Given the description of an element on the screen output the (x, y) to click on. 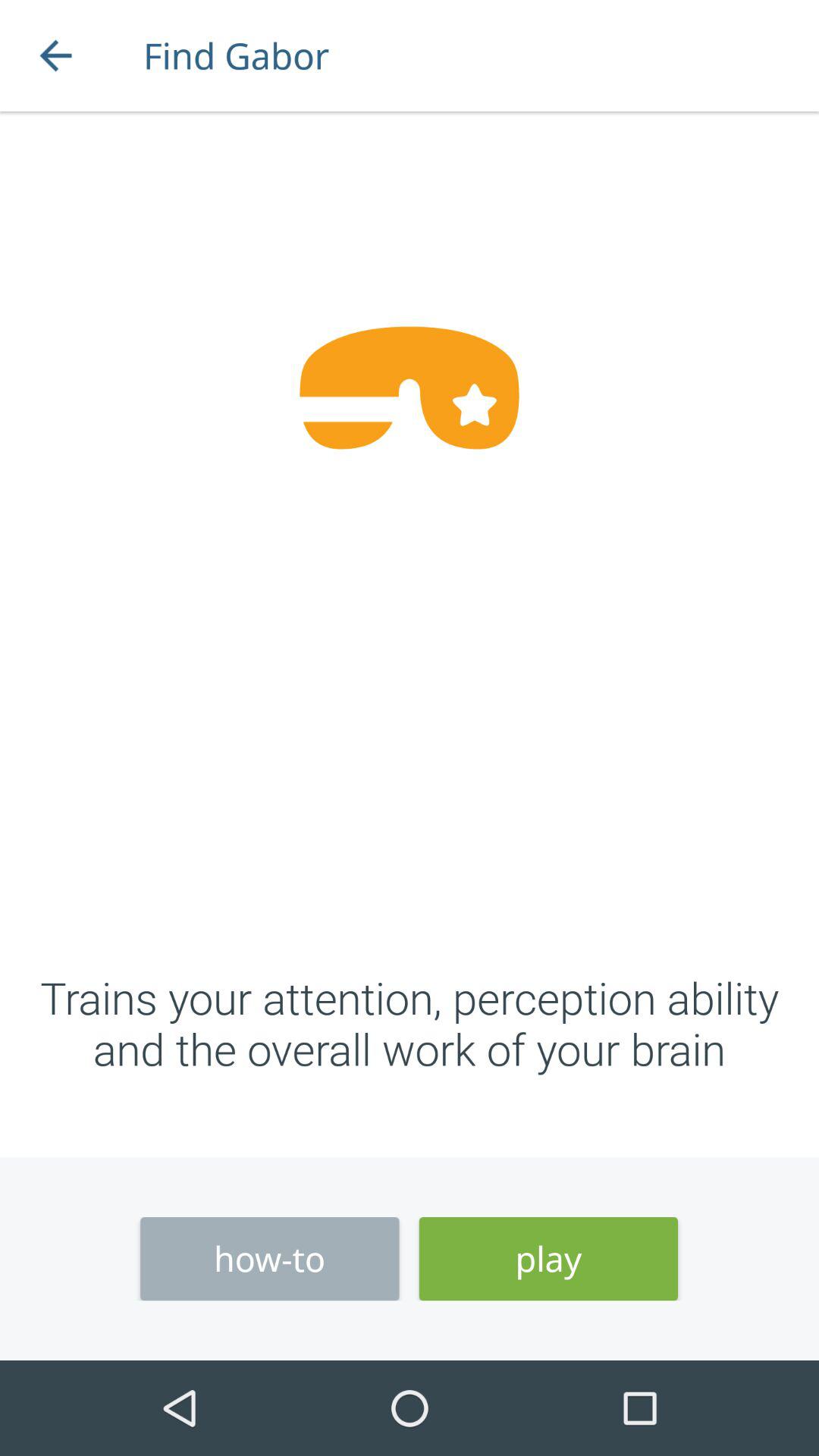
click icon above the trains your attention (55, 55)
